Given the description of an element on the screen output the (x, y) to click on. 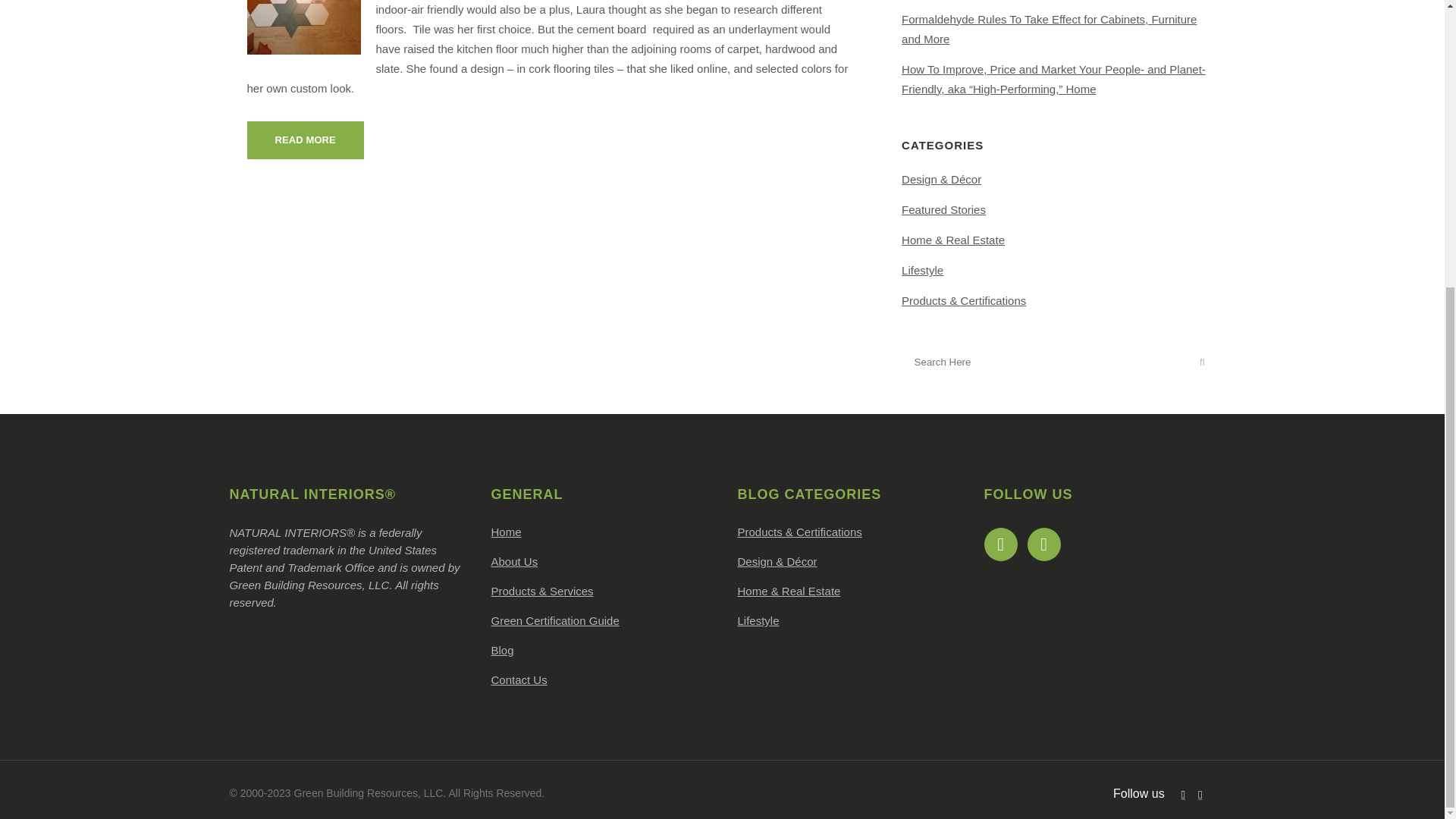
Lifestyle (922, 269)
READ MORE (305, 139)
Featured Stories (943, 209)
